Given the description of an element on the screen output the (x, y) to click on. 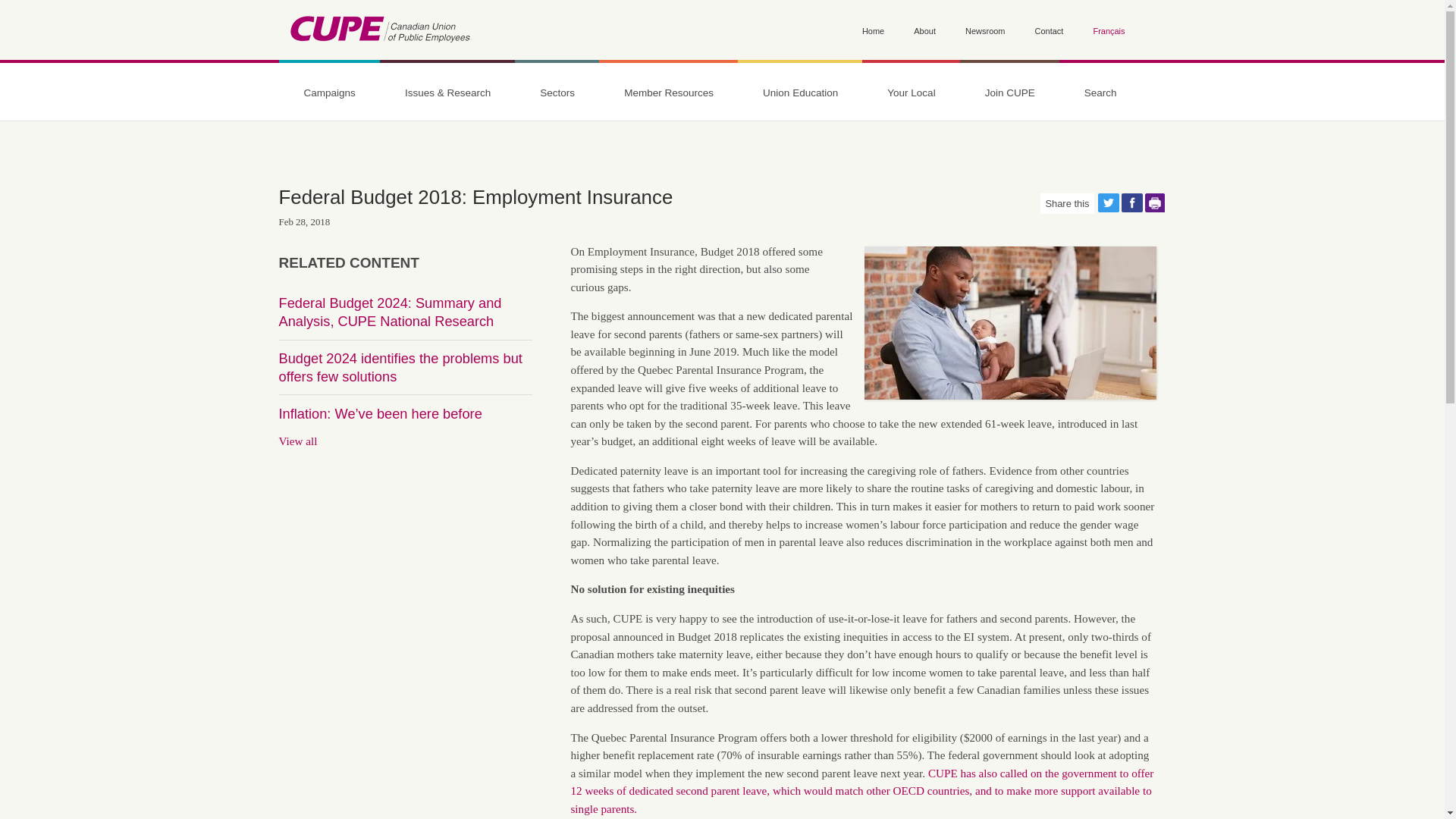
Sectors (557, 92)
Join CUPE (1009, 92)
Share this page on Twitter (1108, 202)
Union Education (800, 92)
Member Resources (667, 92)
About (924, 31)
Search (300, 201)
Campaigns (328, 92)
Share this page on Facebook (1131, 202)
Contact (1049, 31)
Budget 2024 identifies the problems but offers few solutions (400, 367)
Print this page (1155, 202)
Home (378, 31)
